Given the description of an element on the screen output the (x, y) to click on. 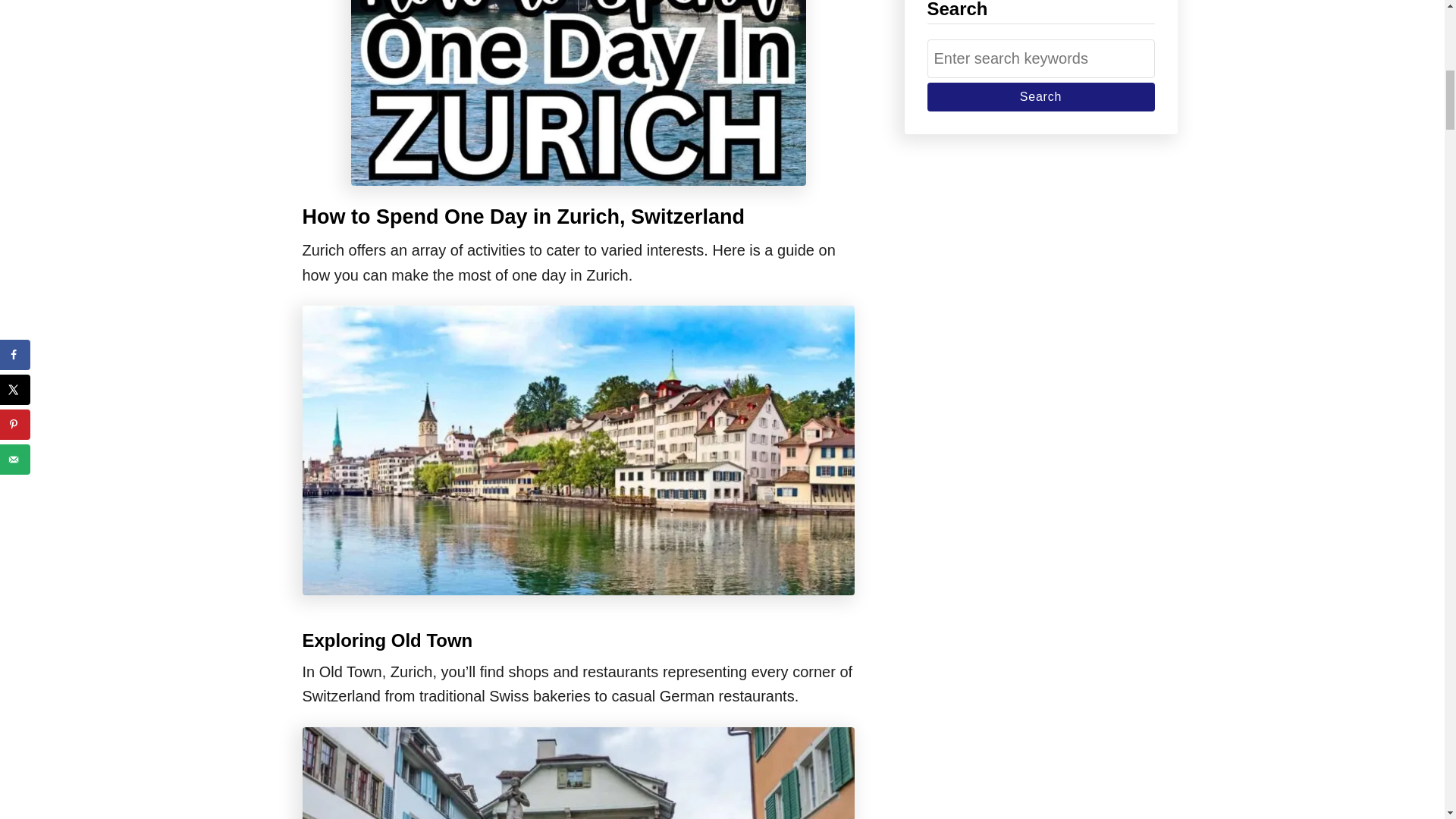
Search (1040, 96)
Search for: (1040, 58)
Search (1040, 96)
Search (1040, 96)
